Given the description of an element on the screen output the (x, y) to click on. 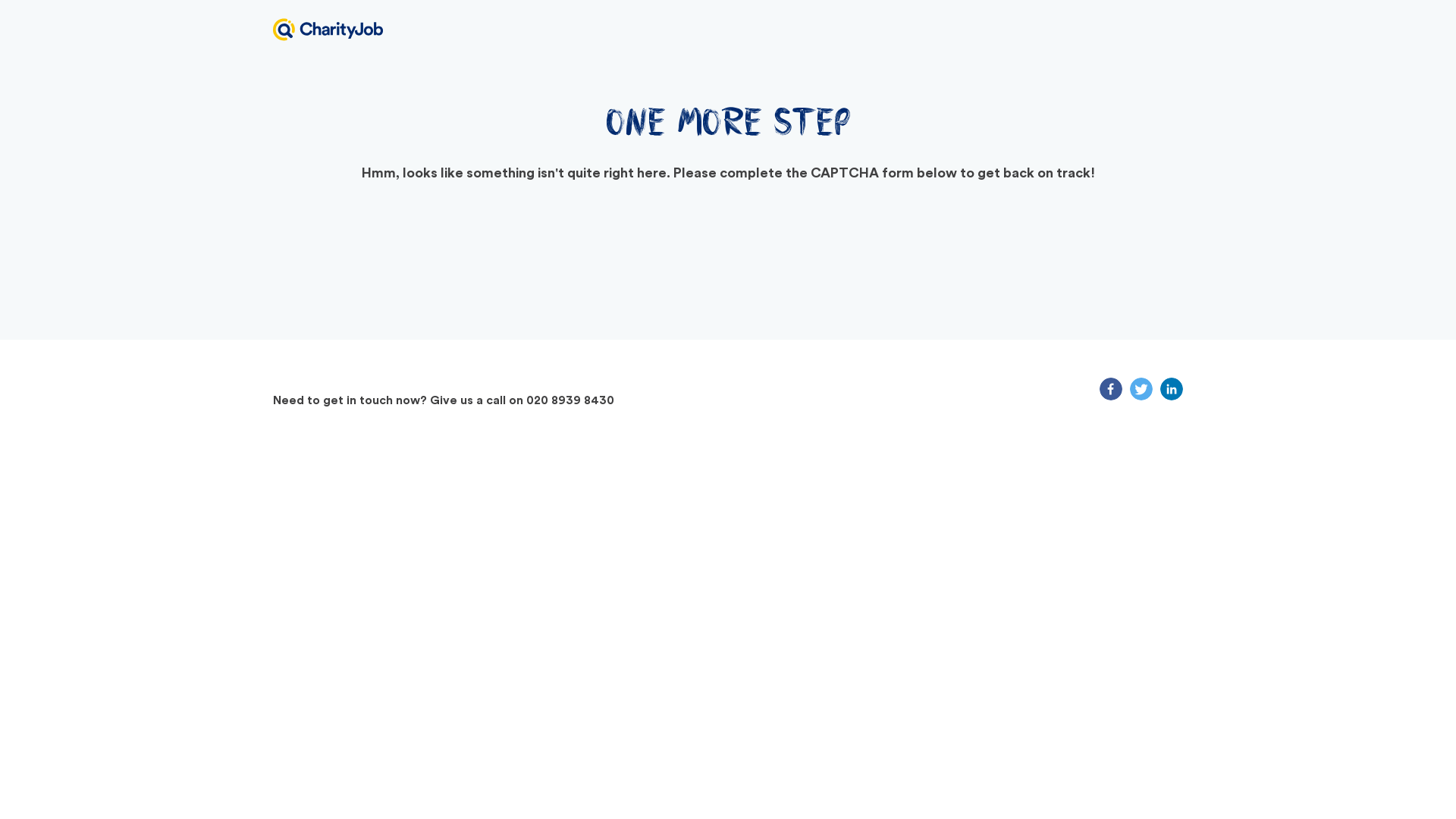
020 8939 8430 (569, 399)
Facebook (1110, 388)
Twitter (1141, 388)
LinkedIn (1171, 388)
CharityJob (327, 29)
